Given the description of an element on the screen output the (x, y) to click on. 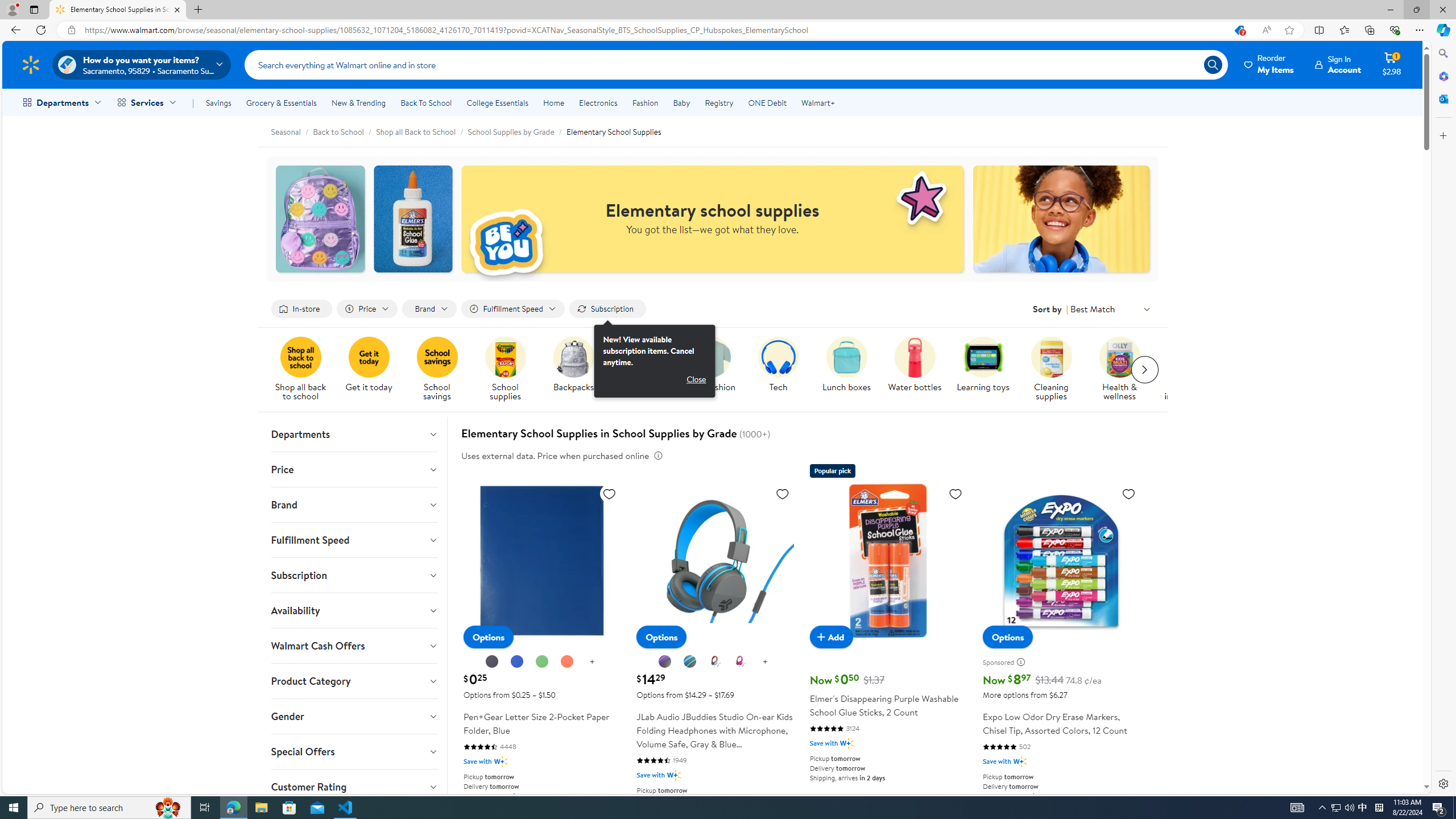
Subscription (354, 574)
Options - Pen+Gear Letter Size 2-Pocket Paper Folder, Blue (488, 636)
Shop all Back to School (415, 131)
Shop all back to school (300, 357)
Availability (354, 610)
Shop all back to school Shop all back to school (300, 369)
Seasonal (291, 131)
Filter by Fulfillment Speed not applied, activate to change (512, 308)
A pack of Olly multivitamins are on display. (1119, 357)
Orange (566, 661)
